Given the description of an element on the screen output the (x, y) to click on. 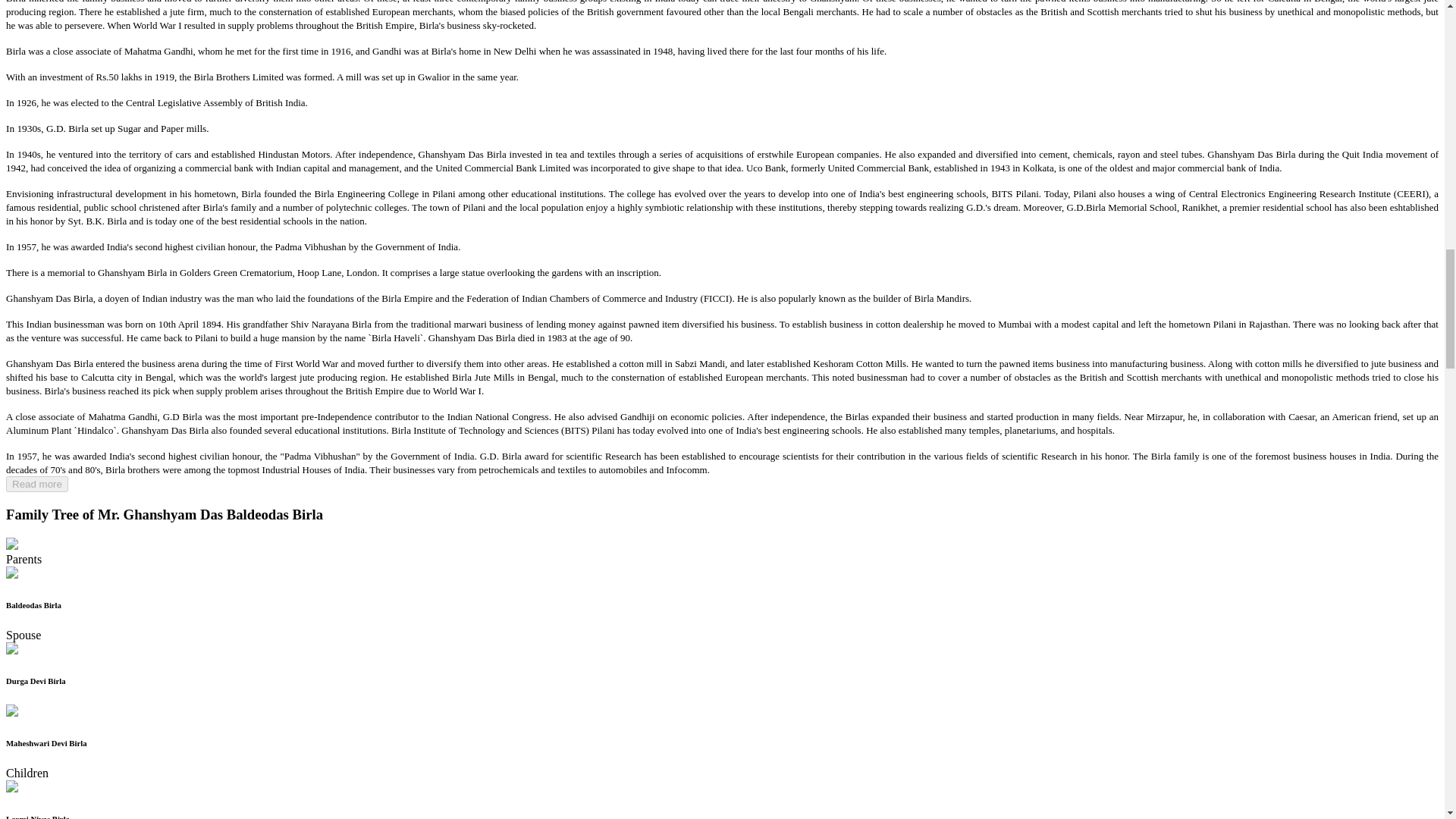
Read more (36, 483)
